Given the description of an element on the screen output the (x, y) to click on. 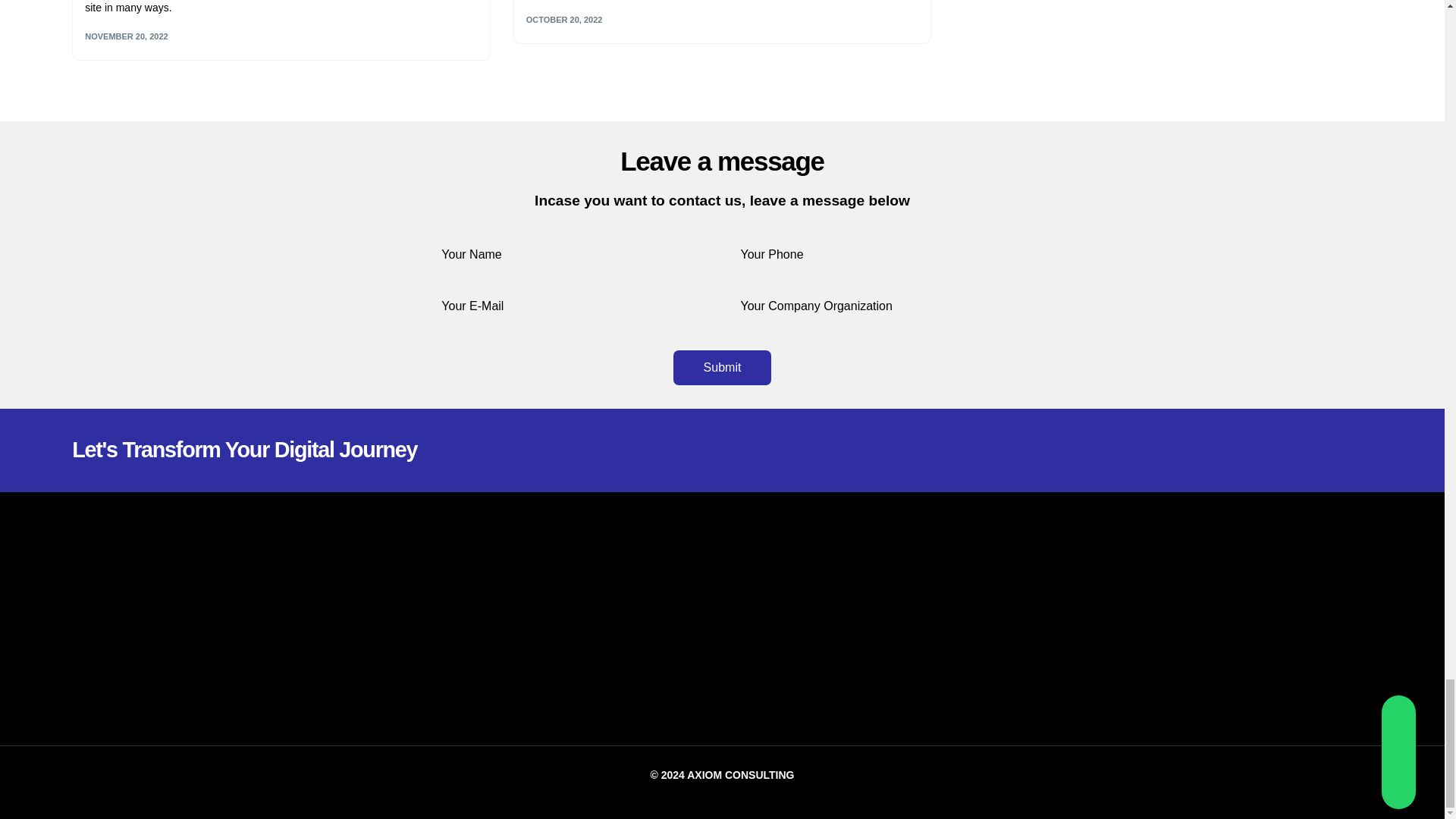
OCTOBER 20, 2022 (563, 20)
NOVEMBER 20, 2022 (125, 36)
Submit (721, 367)
